Given the description of an element on the screen output the (x, y) to click on. 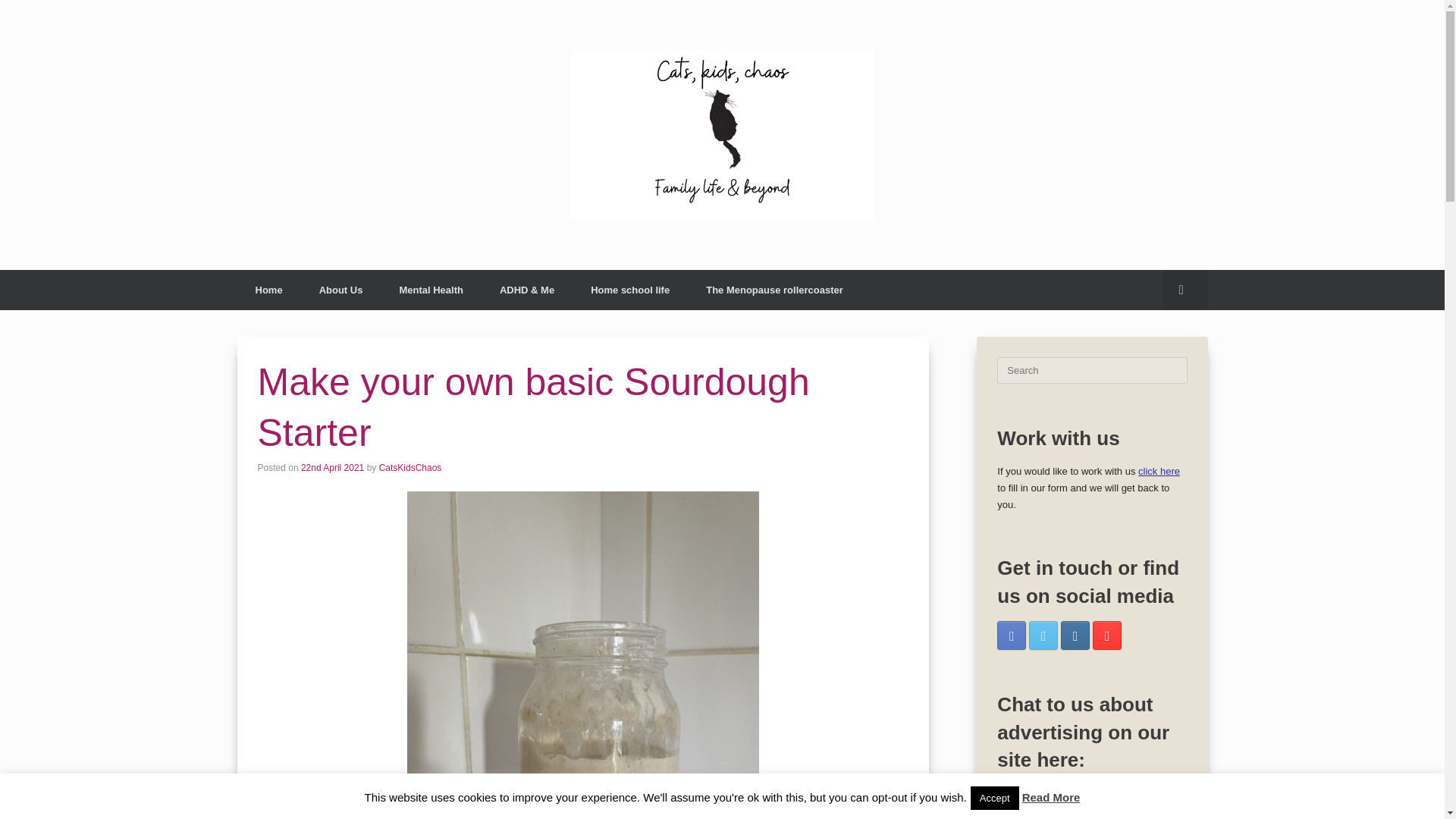
Home school life (629, 290)
6:00 am (332, 467)
22nd April 2021 (332, 467)
CatsKidsChaos Facebook (1011, 635)
CatsKidsChaos Instagram (1075, 635)
CatsKidsChaos Pinterest (1107, 635)
click here (1158, 471)
The Menopause rollercoaster (774, 290)
Read More (1051, 797)
Accept (995, 797)
View all posts by CatsKidsChaos (410, 467)
Home (267, 290)
CatsKidsChaos (410, 467)
About Us (341, 290)
Mental Health (430, 290)
